Given the description of an element on the screen output the (x, y) to click on. 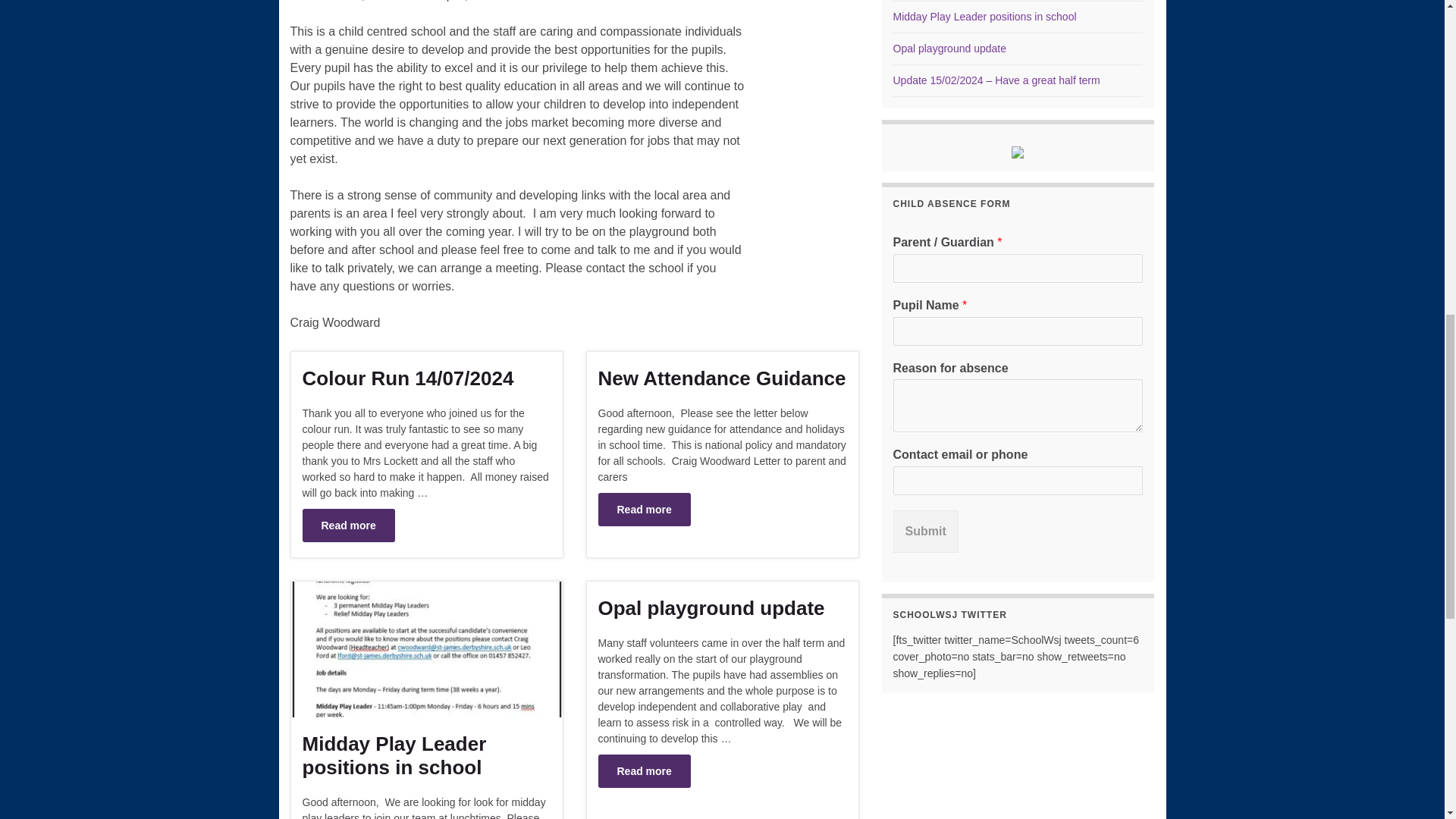
Read more (643, 770)
New Attendance Guidance (720, 378)
Permalink to New Attendance Guidance (643, 509)
Opal playground update (720, 608)
Permalink to New Attendance Guidance (720, 378)
Permalink to Opal playground update (643, 770)
Read more (643, 509)
Read more (347, 525)
Permalink to Midday Play Leader positions in school (425, 755)
Permalink to Opal playground update (720, 608)
